Given the description of an element on the screen output the (x, y) to click on. 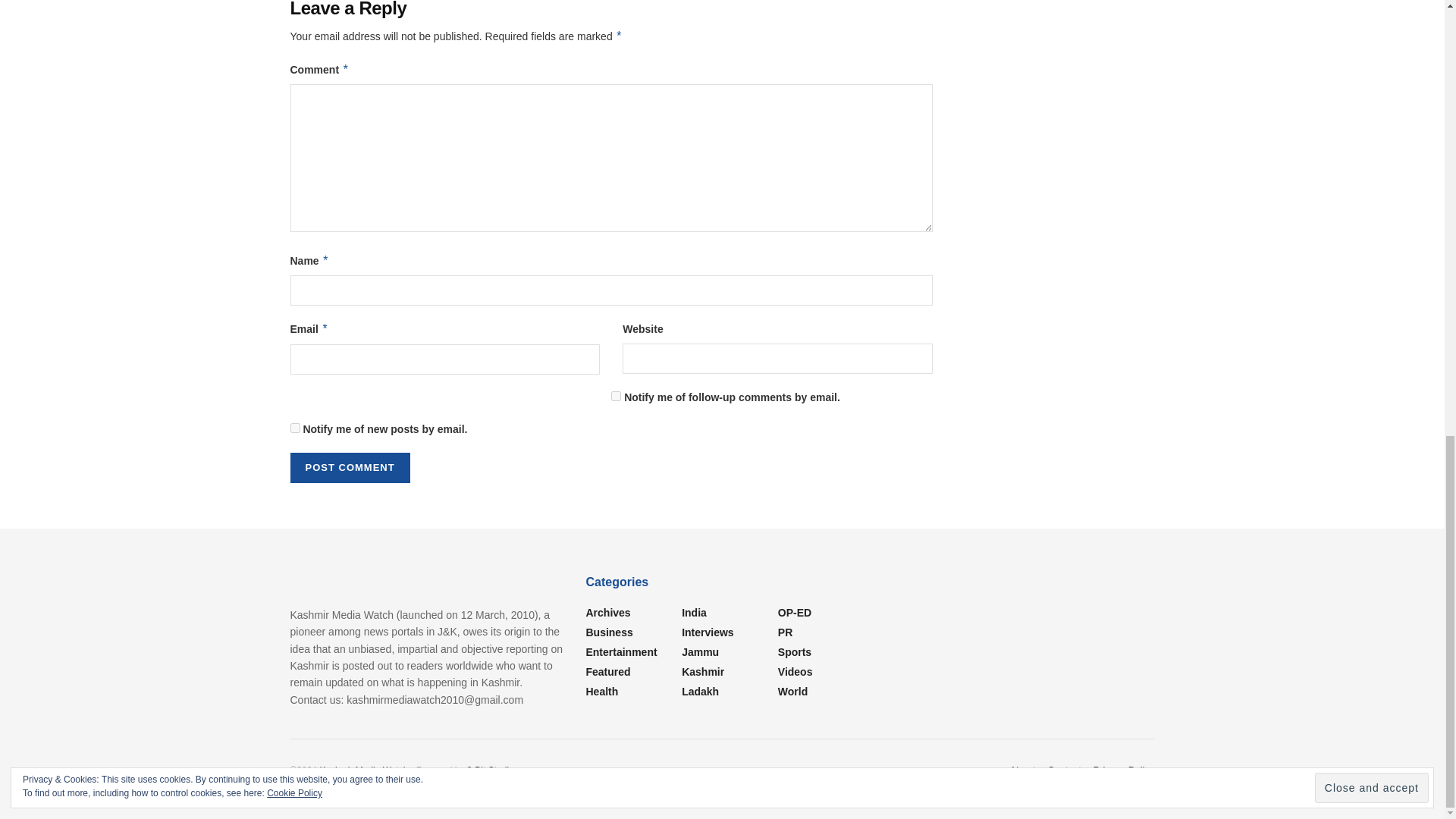
subscribe (294, 428)
subscribe (616, 396)
8-Bit Studios (492, 769)
kashmir Media Watch (362, 769)
Post Comment (349, 467)
